Given the description of an element on the screen output the (x, y) to click on. 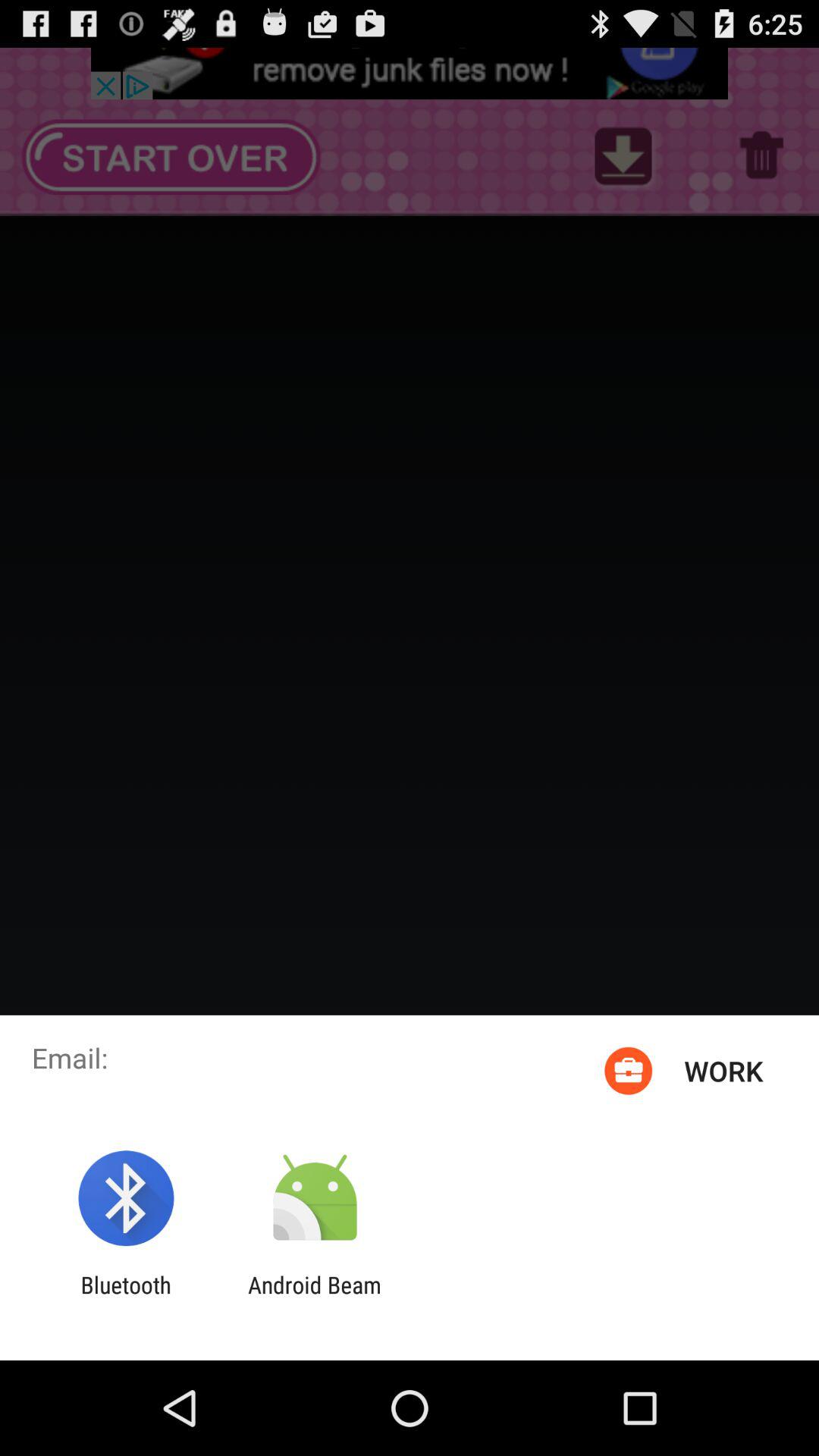
choose the app next to the bluetooth item (314, 1298)
